Given the description of an element on the screen output the (x, y) to click on. 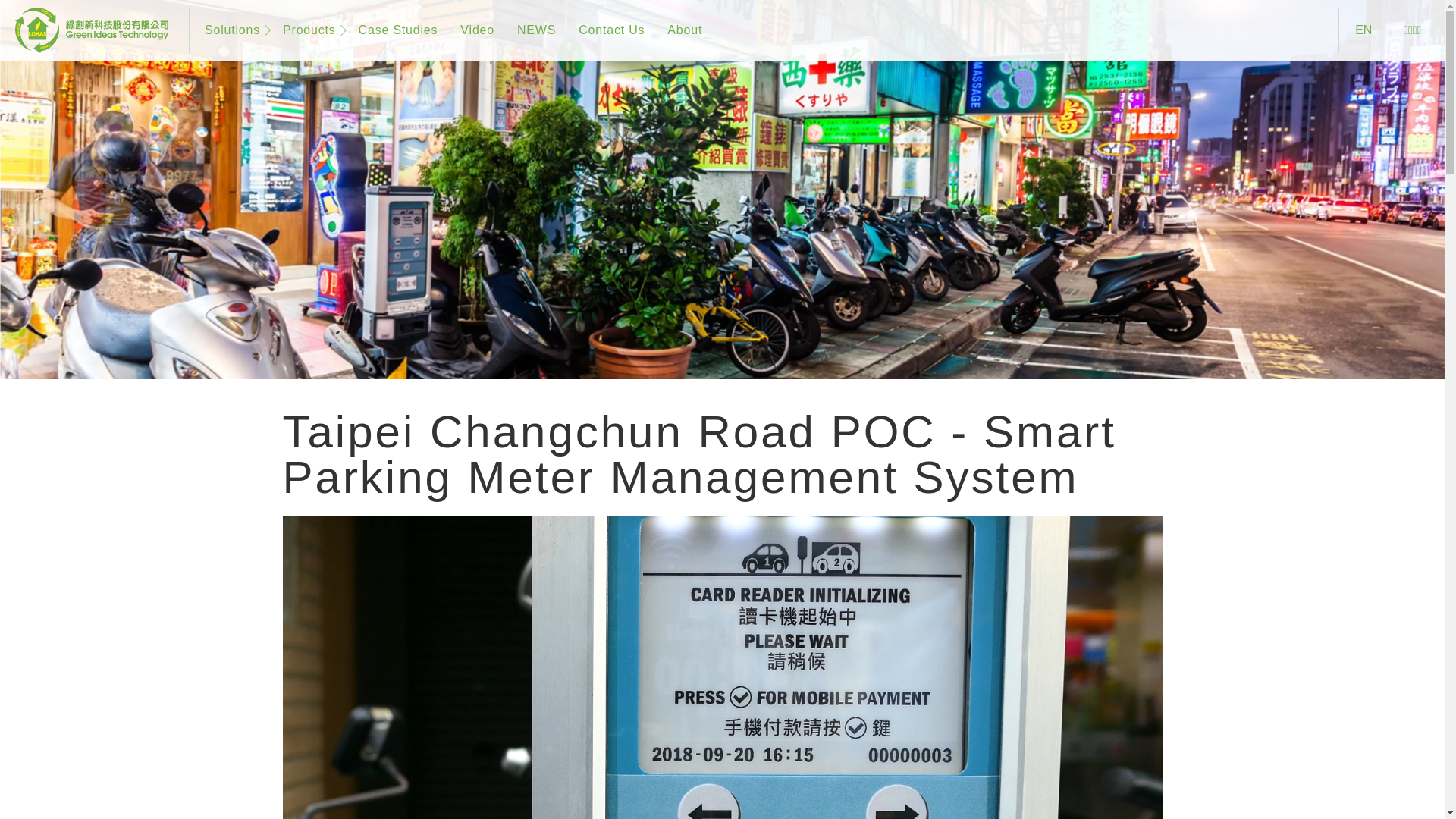
Video Element type: text (473, 30)
Contact Us Element type: text (607, 30)
NEWS Element type: text (532, 30)
Products Element type: text (305, 30)
Case Studies Element type: text (394, 30)
EN Element type: text (1363, 30)
Solutions Element type: text (228, 30)
About Element type: text (680, 30)
